Given the description of an element on the screen output the (x, y) to click on. 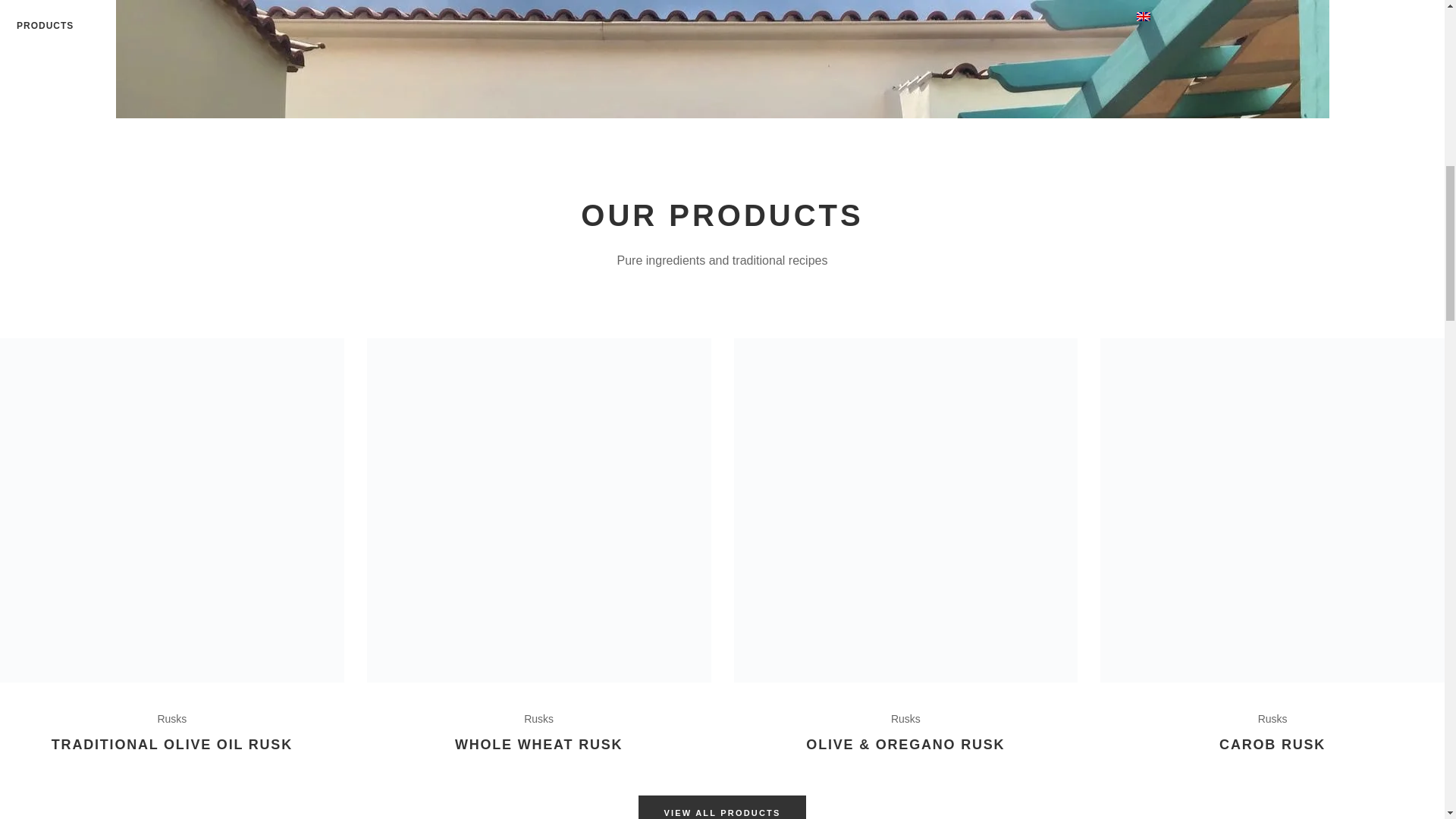
TRADITIONAL OLIVE OIL RUSK (171, 744)
Rusks (538, 718)
WHOLE WHEAT RUSK (538, 744)
Rusks (171, 718)
